Given the description of an element on the screen output the (x, y) to click on. 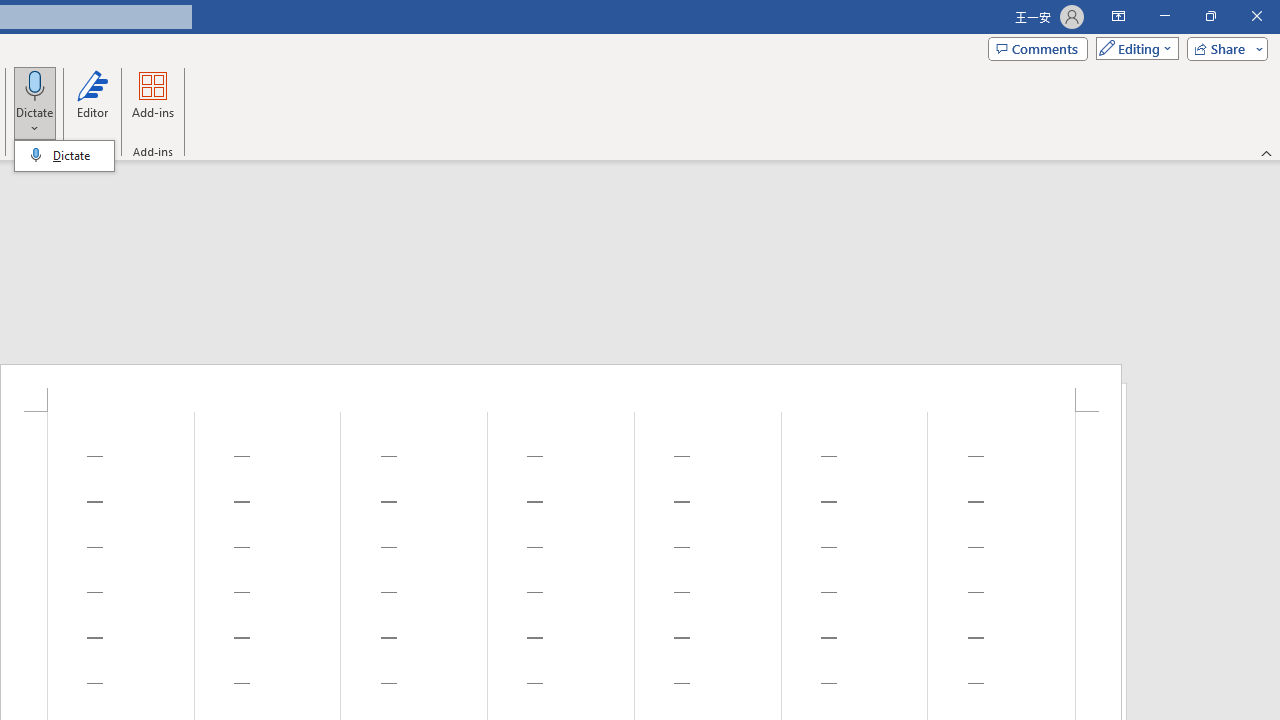
Dictate (35, 84)
